Given the description of an element on the screen output the (x, y) to click on. 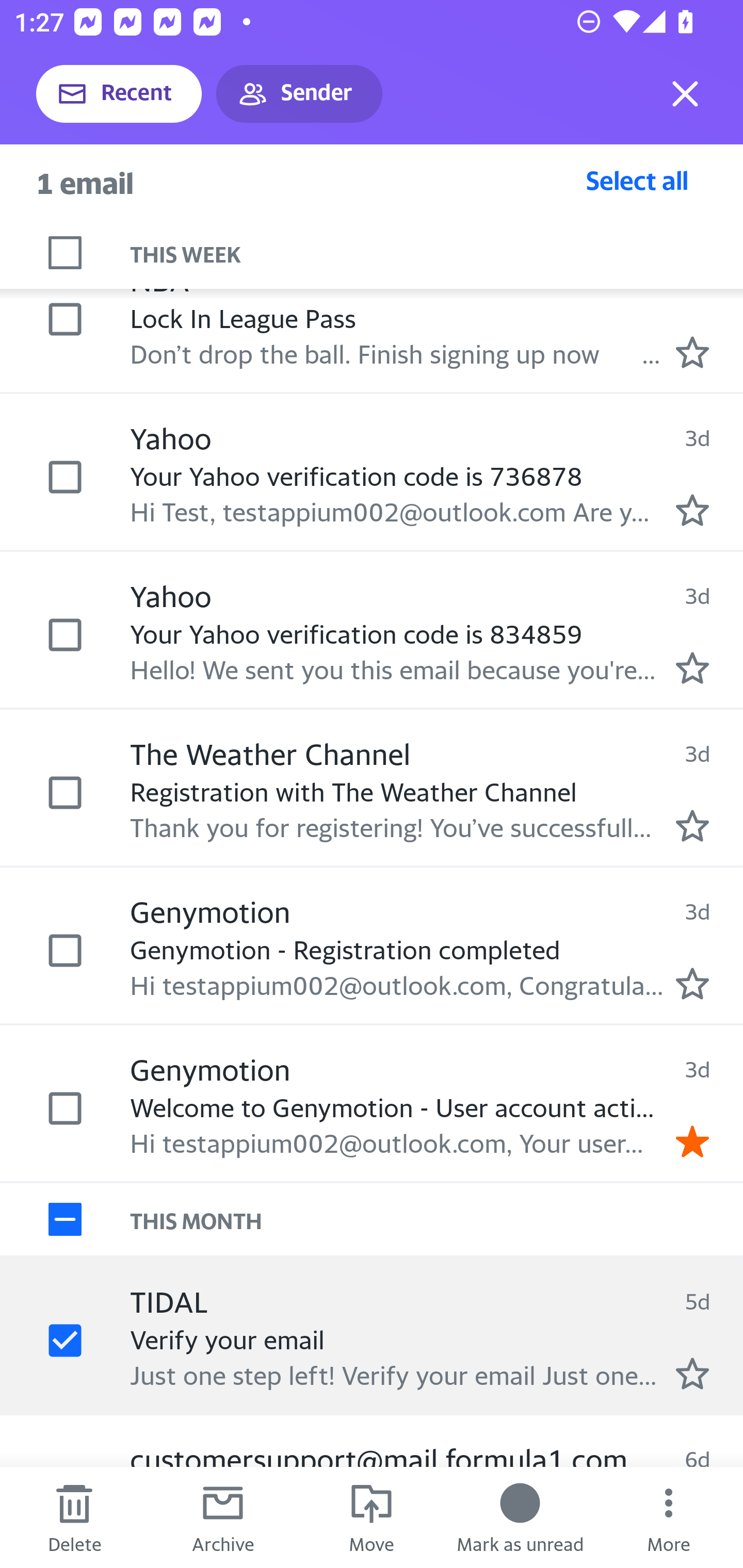
Sender (299, 93)
Exit selection mode (684, 93)
Select all (637, 180)
Mark as starred. (692, 351)
Mark as starred. (692, 510)
Mark as starred. (692, 667)
Mark as starred. (692, 825)
Mark as starred. (692, 983)
Remove star. (692, 1140)
THIS MONTH (436, 1218)
Mark as starred. (692, 1373)
Delete (74, 1517)
Archive (222, 1517)
Move (371, 1517)
Mark as unread (519, 1517)
More (668, 1517)
